Given the description of an element on the screen output the (x, y) to click on. 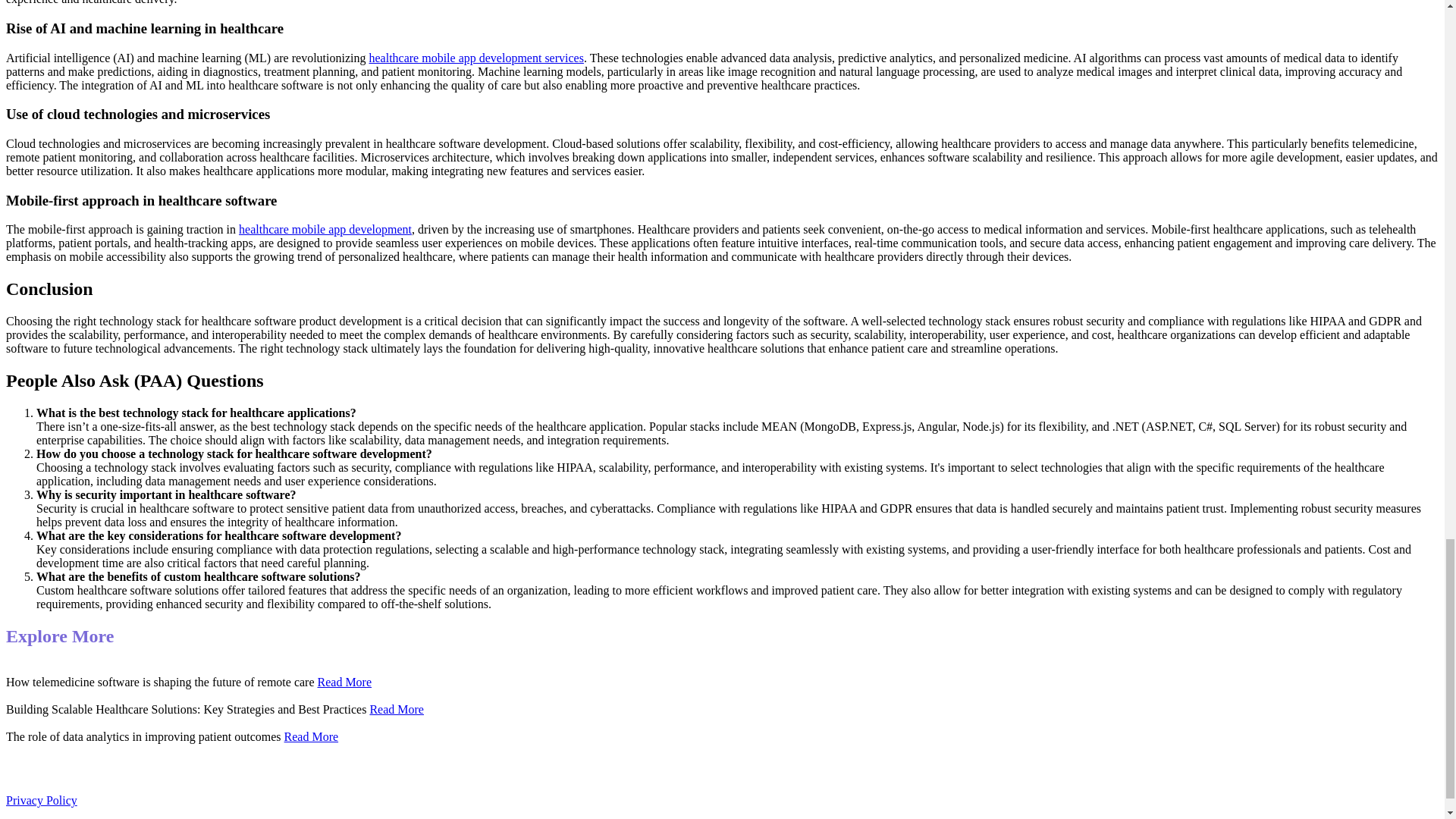
healthcare mobile app development services (475, 57)
healthcare mobile app development (325, 228)
Read More (396, 708)
Read More (311, 736)
Read More (344, 681)
